Given the description of an element on the screen output the (x, y) to click on. 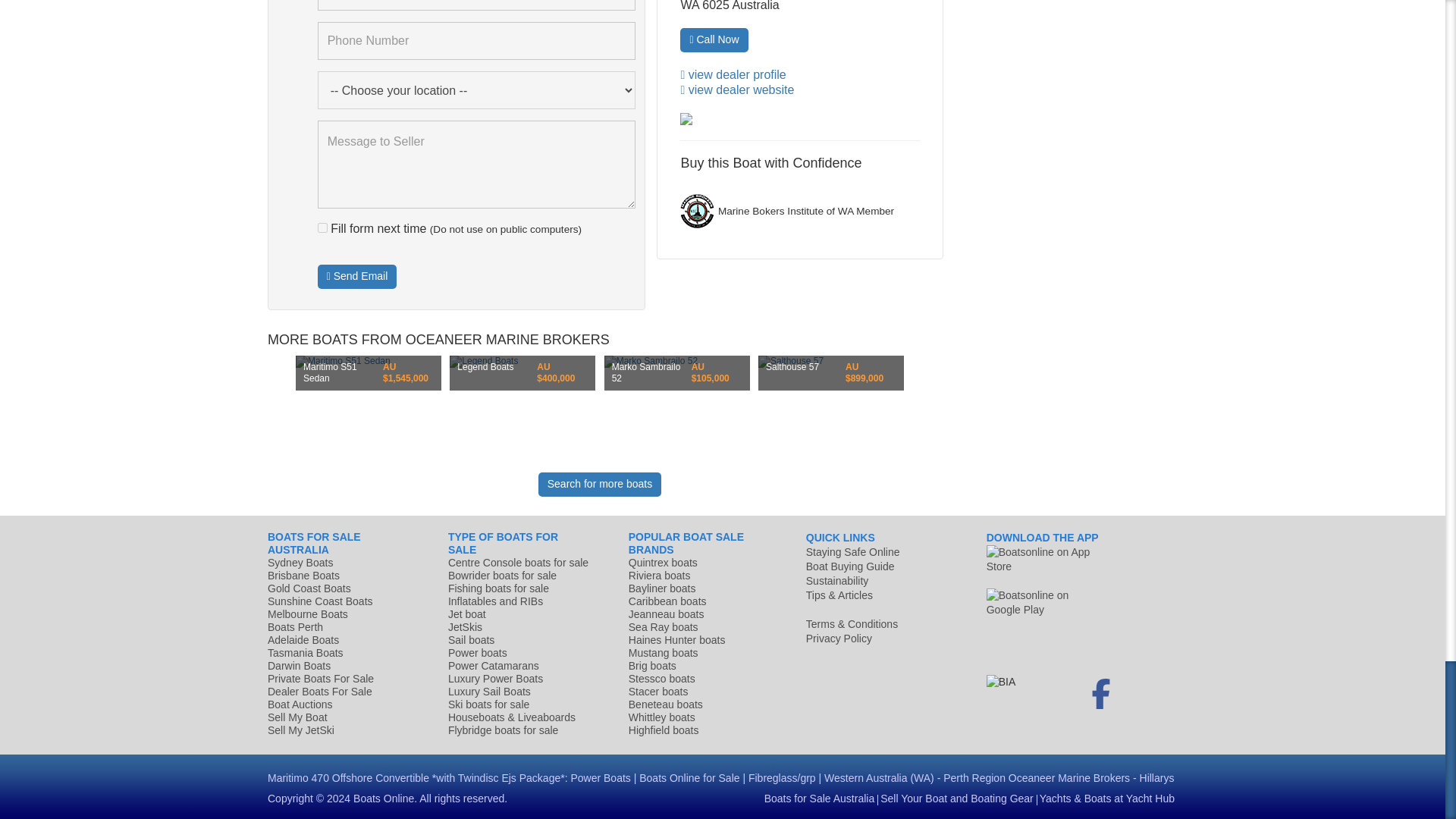
on (322, 227)
